Given the description of an element on the screen output the (x, y) to click on. 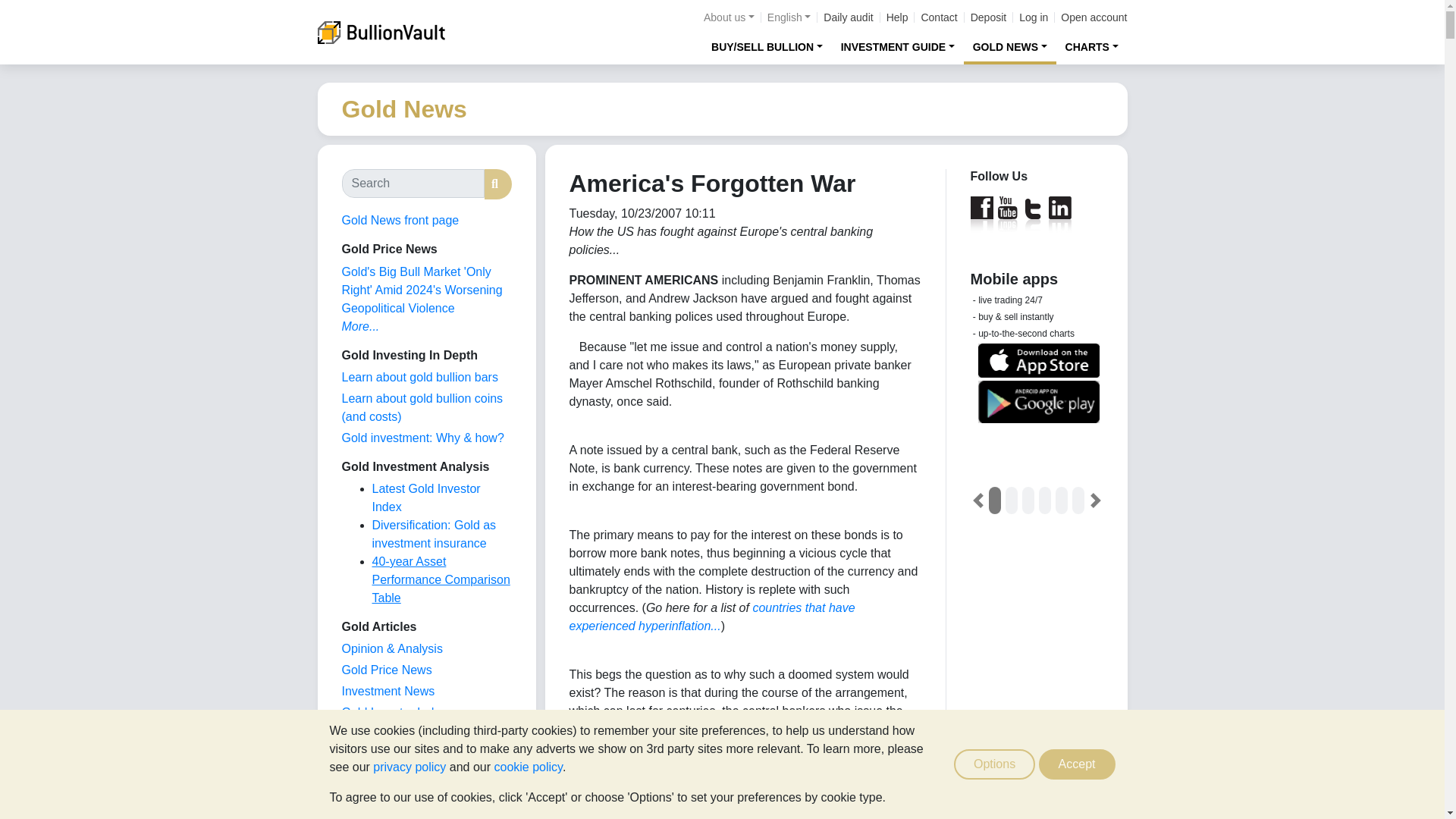
Gold in History (380, 775)
Market Fundamentals (399, 754)
Investment News (386, 690)
Contact (938, 17)
Open account (1093, 17)
Gold Investor Index (393, 712)
Accept (1077, 764)
The View from the Vault (391, 648)
Gold Infographics (387, 733)
Help (897, 17)
